Given the description of an element on the screen output the (x, y) to click on. 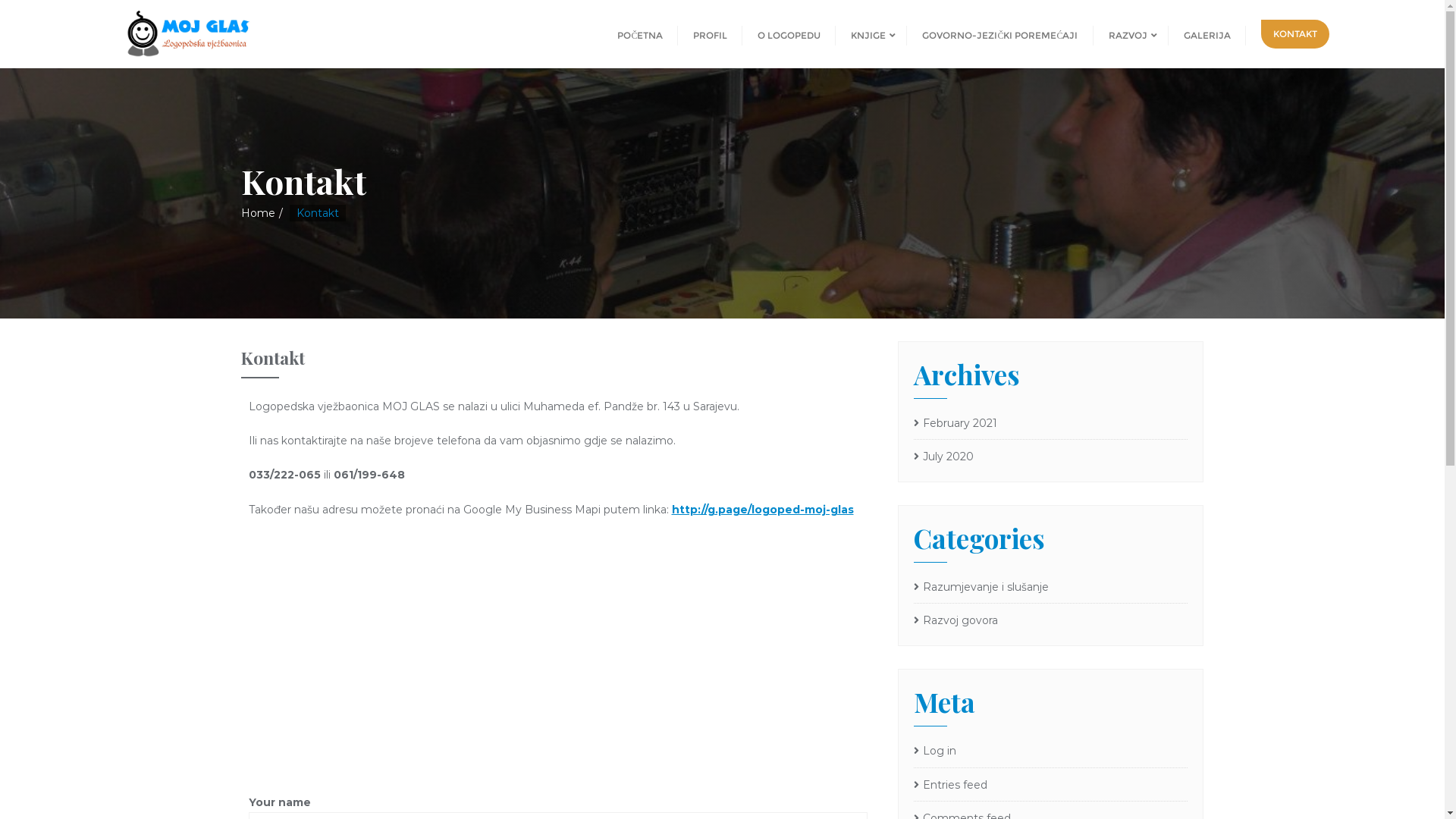
GALERIJA Element type: text (1206, 34)
Log in Element type: text (1050, 750)
KONTAKT Element type: text (1294, 33)
July 2020 Element type: text (943, 456)
PROFIL Element type: text (709, 34)
February 2021 Element type: text (955, 423)
O LOGOPEDU Element type: text (788, 34)
Razvoj govora Element type: text (955, 620)
RAZVOJ Element type: text (1130, 34)
Entries feed Element type: text (1050, 784)
http://g.page/logoped-moj-glas Element type: text (762, 509)
Home Element type: text (258, 212)
KNJIGE Element type: text (870, 34)
